Given the description of an element on the screen output the (x, y) to click on. 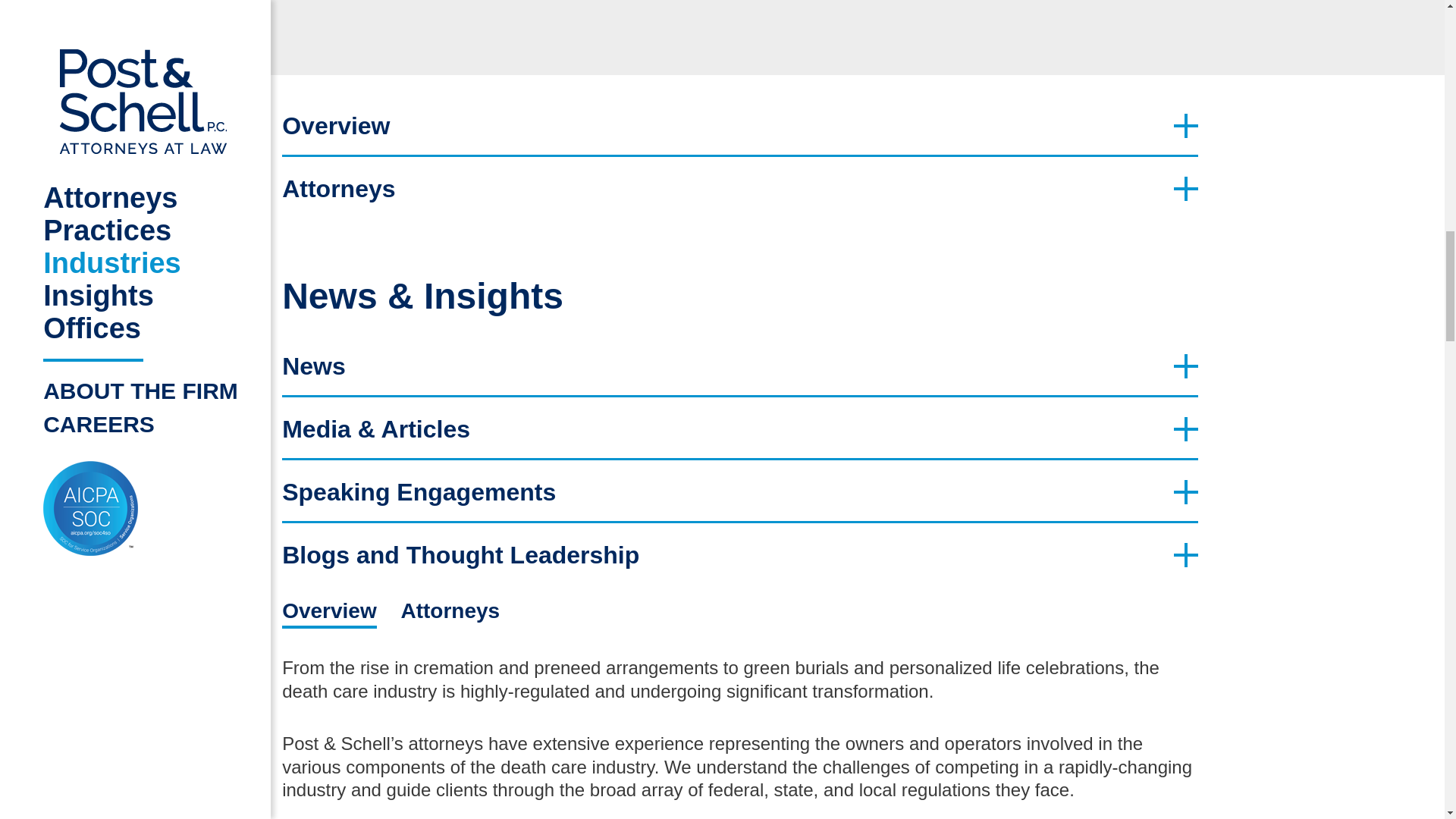
Overview (740, 124)
